Given the description of an element on the screen output the (x, y) to click on. 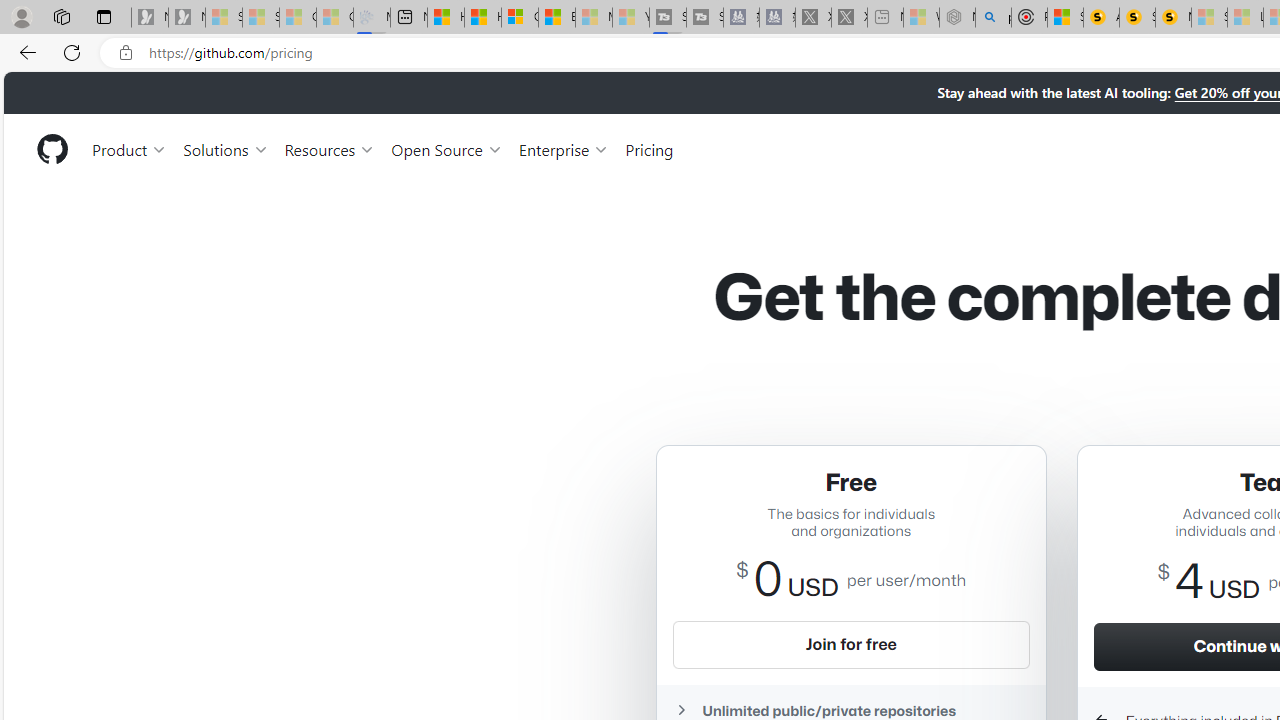
Enterprise (563, 148)
Newsletter Sign Up - Sleeping (186, 17)
Wildlife - MSN - Sleeping (921, 17)
Open Source (446, 148)
Join for free (851, 643)
Resources (330, 148)
Michelle Starr, Senior Journalist at ScienceAlert (1173, 17)
Solutions (225, 148)
